Given the description of an element on the screen output the (x, y) to click on. 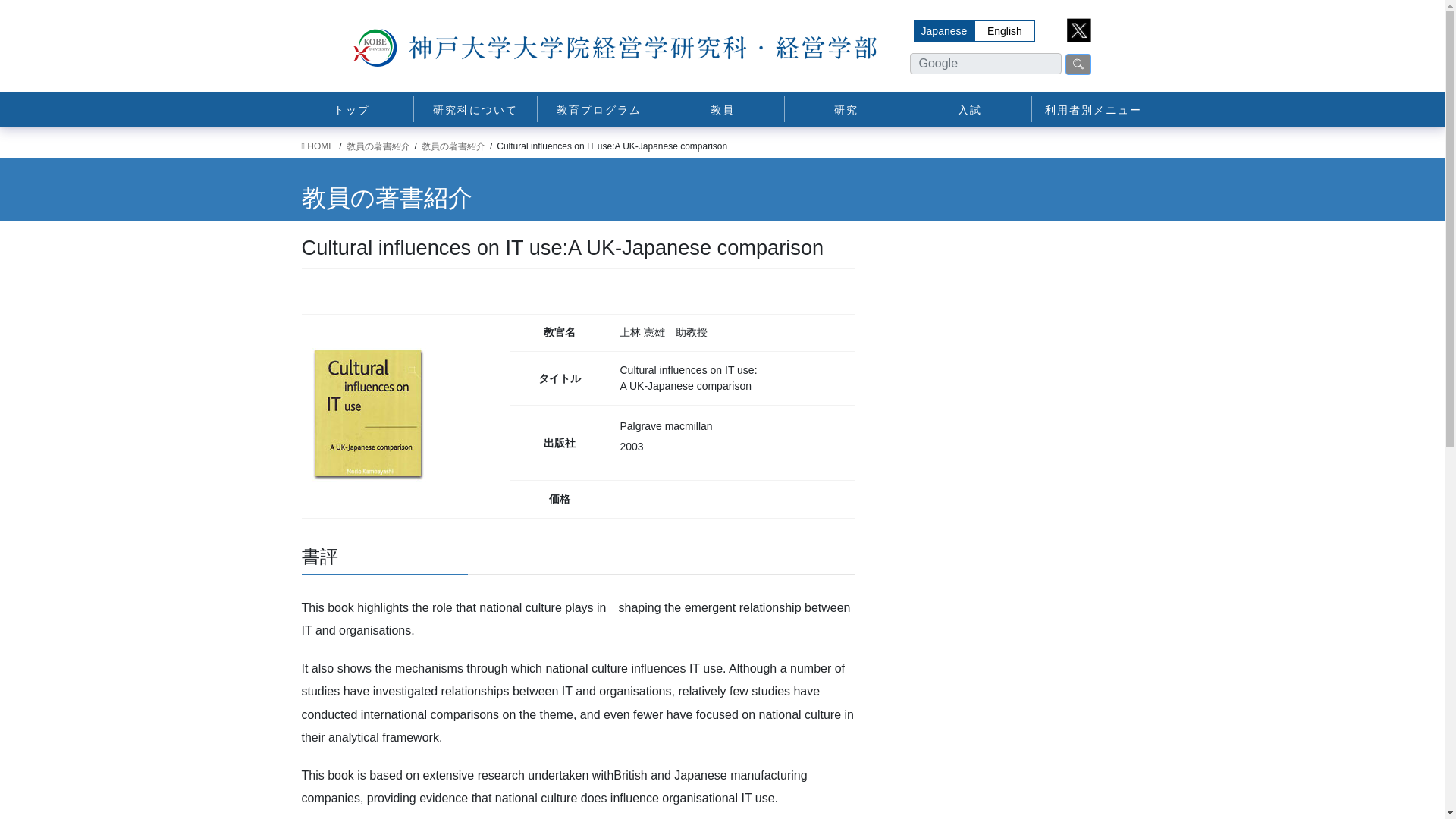
JP (944, 30)
HOME (317, 145)
English (1004, 30)
Japanese (944, 30)
EN (1004, 30)
